Given the description of an element on the screen output the (x, y) to click on. 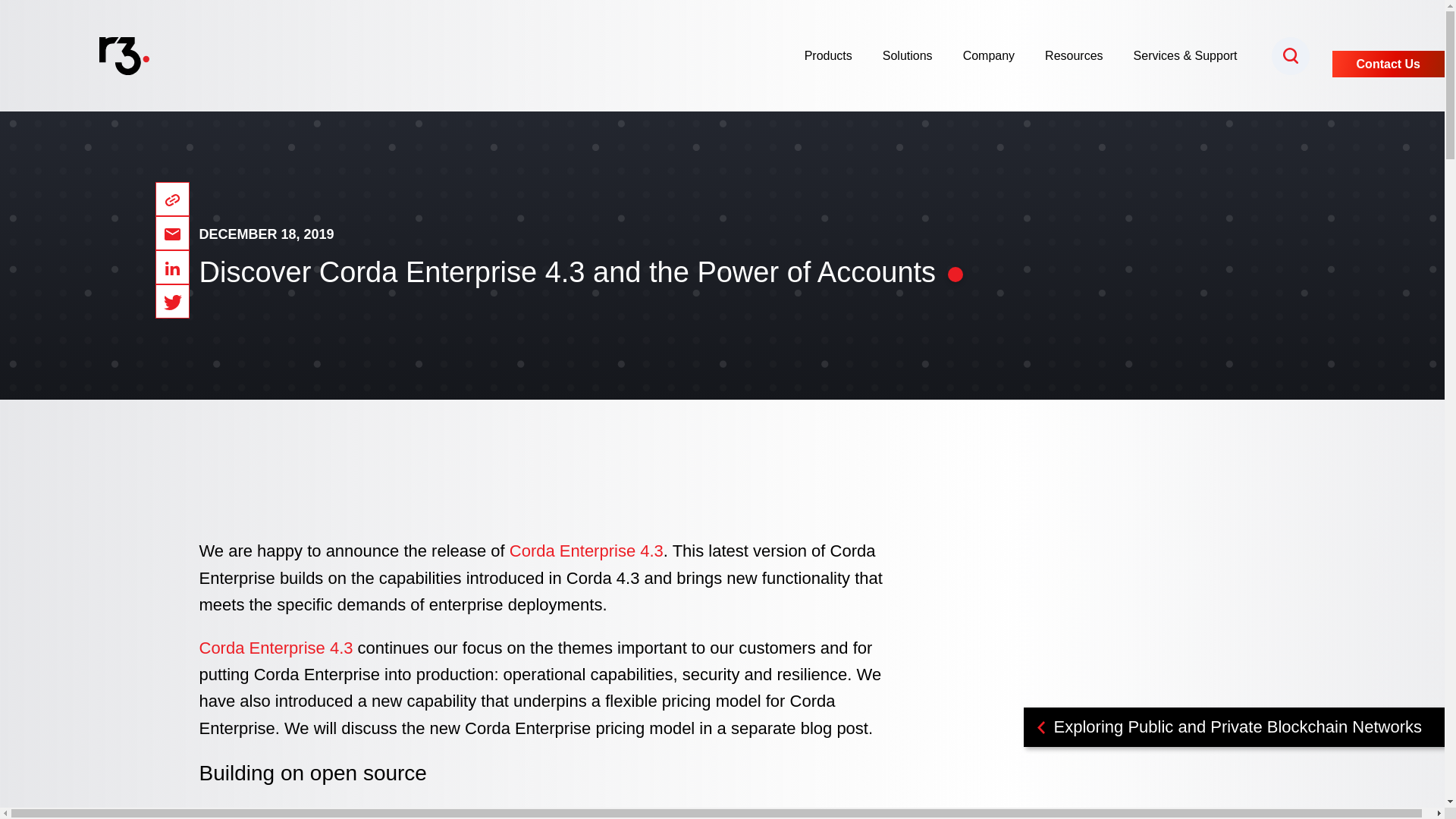
Solutions (915, 55)
Company (995, 55)
Resources (1080, 55)
Products (835, 55)
